Given the description of an element on the screen output the (x, y) to click on. 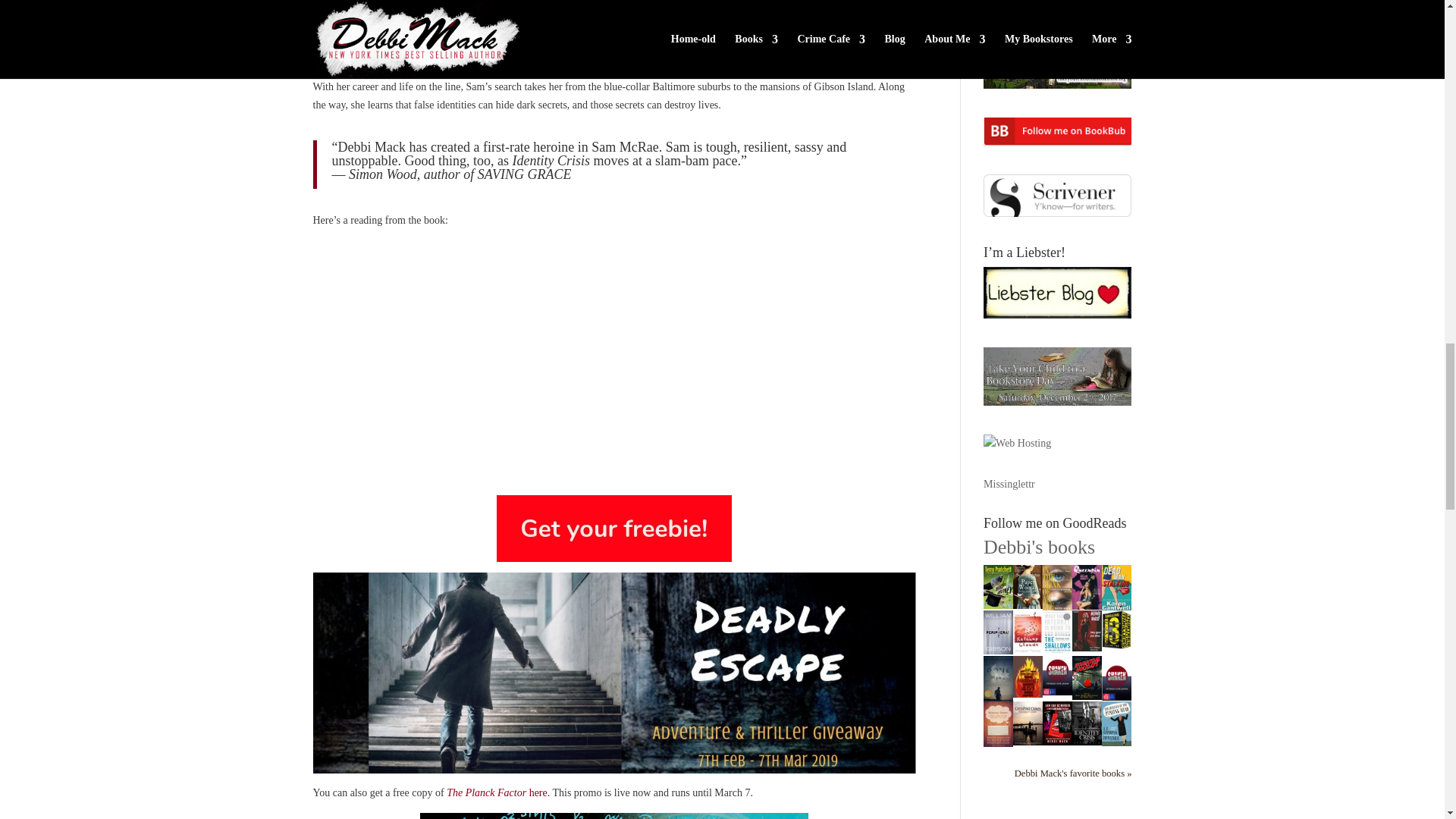
Queenpin (1086, 605)
In the Blink of an Eye (1056, 607)
